Given the description of an element on the screen output the (x, y) to click on. 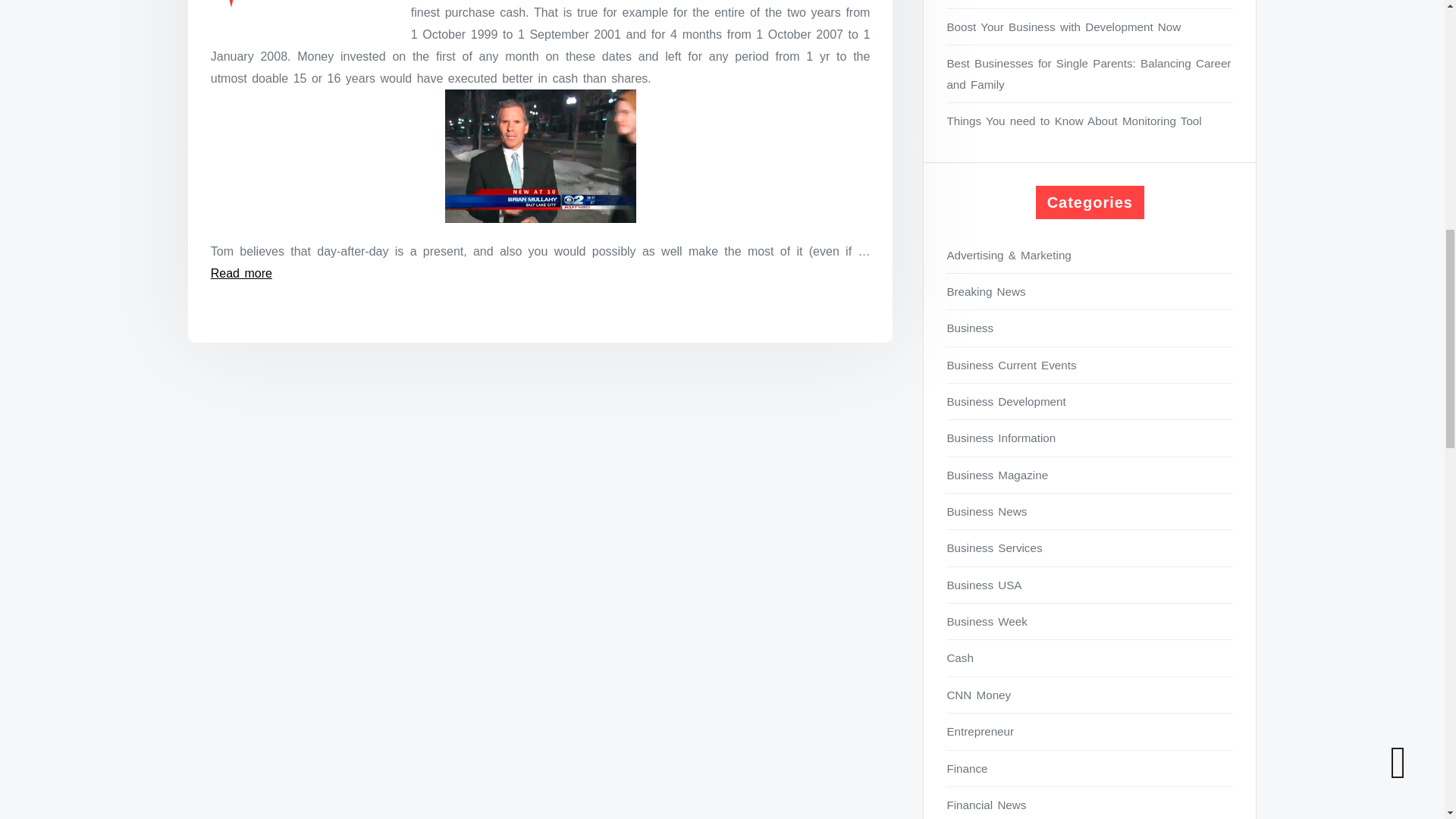
Read more (241, 273)
Things You need to Know About Monitoring Tool (1089, 120)
Business Current Events (1089, 364)
Business (1089, 327)
Breaking News (1089, 291)
Boost Your Business with Development Now (1089, 26)
